Given the description of an element on the screen output the (x, y) to click on. 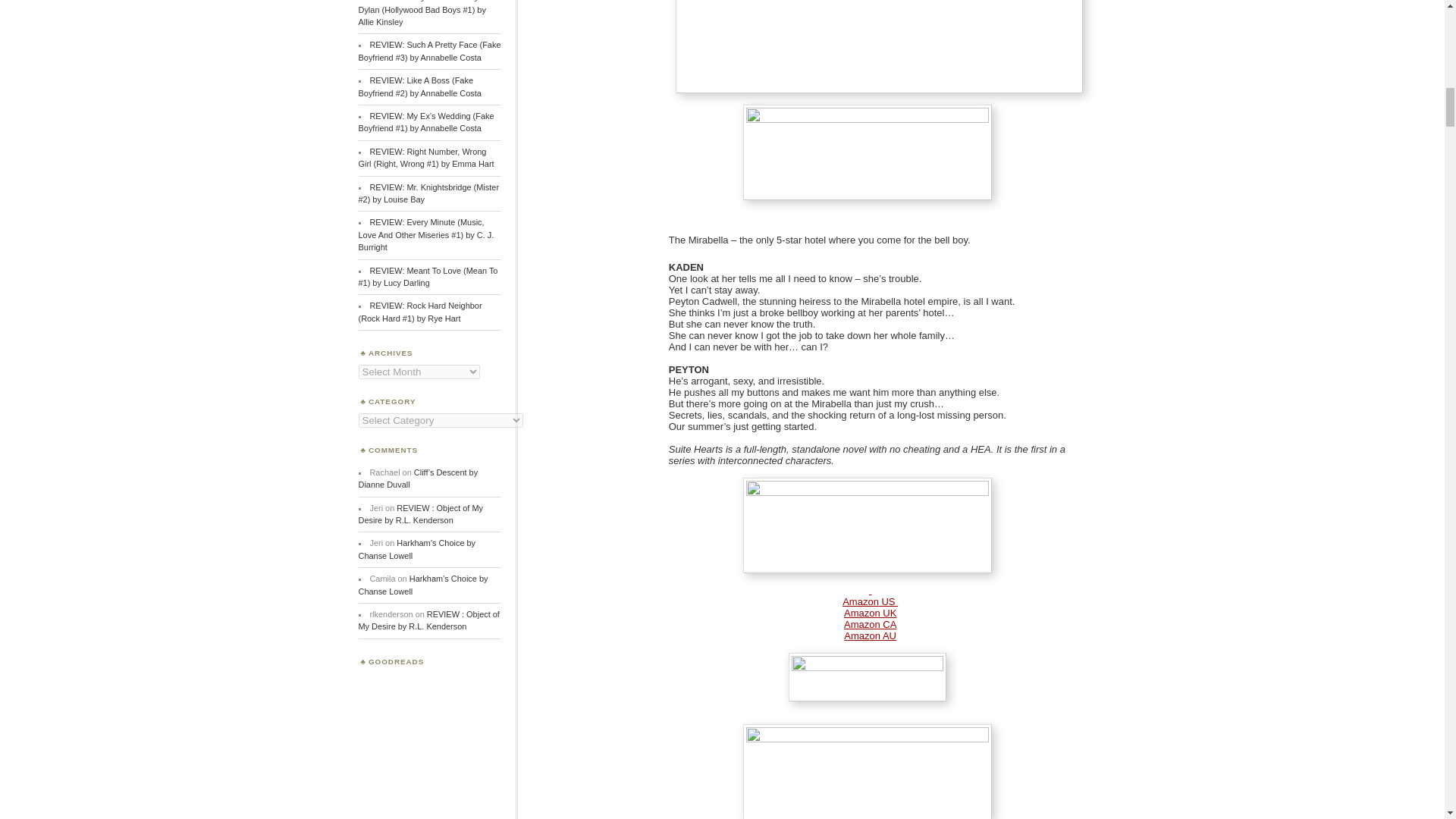
Amazon UK (870, 613)
Amazon US  (870, 601)
Amazon CA (870, 624)
Amazon AU (870, 635)
